Given the description of an element on the screen output the (x, y) to click on. 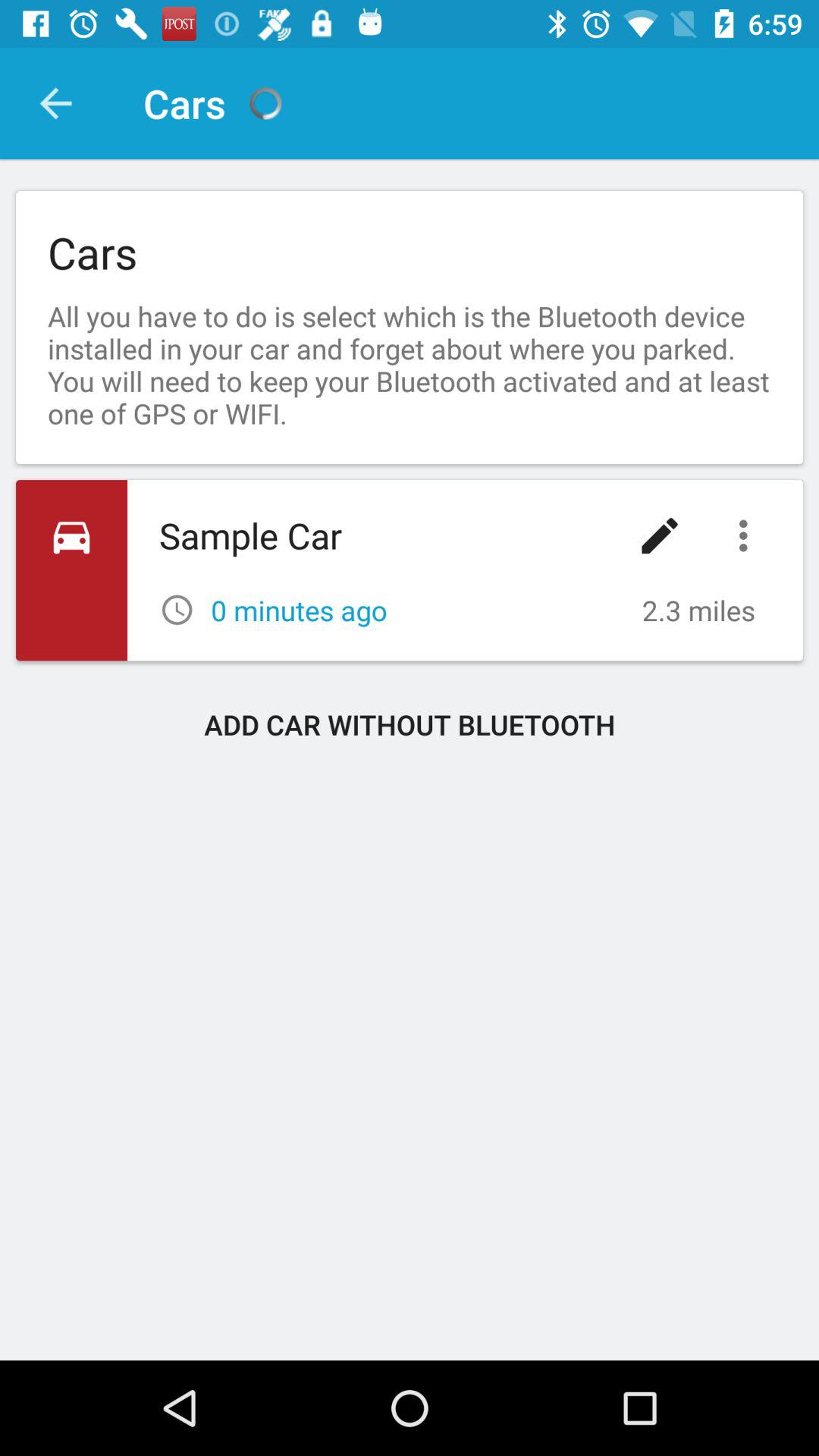
select icon below all you have (659, 535)
